Given the description of an element on the screen output the (x, y) to click on. 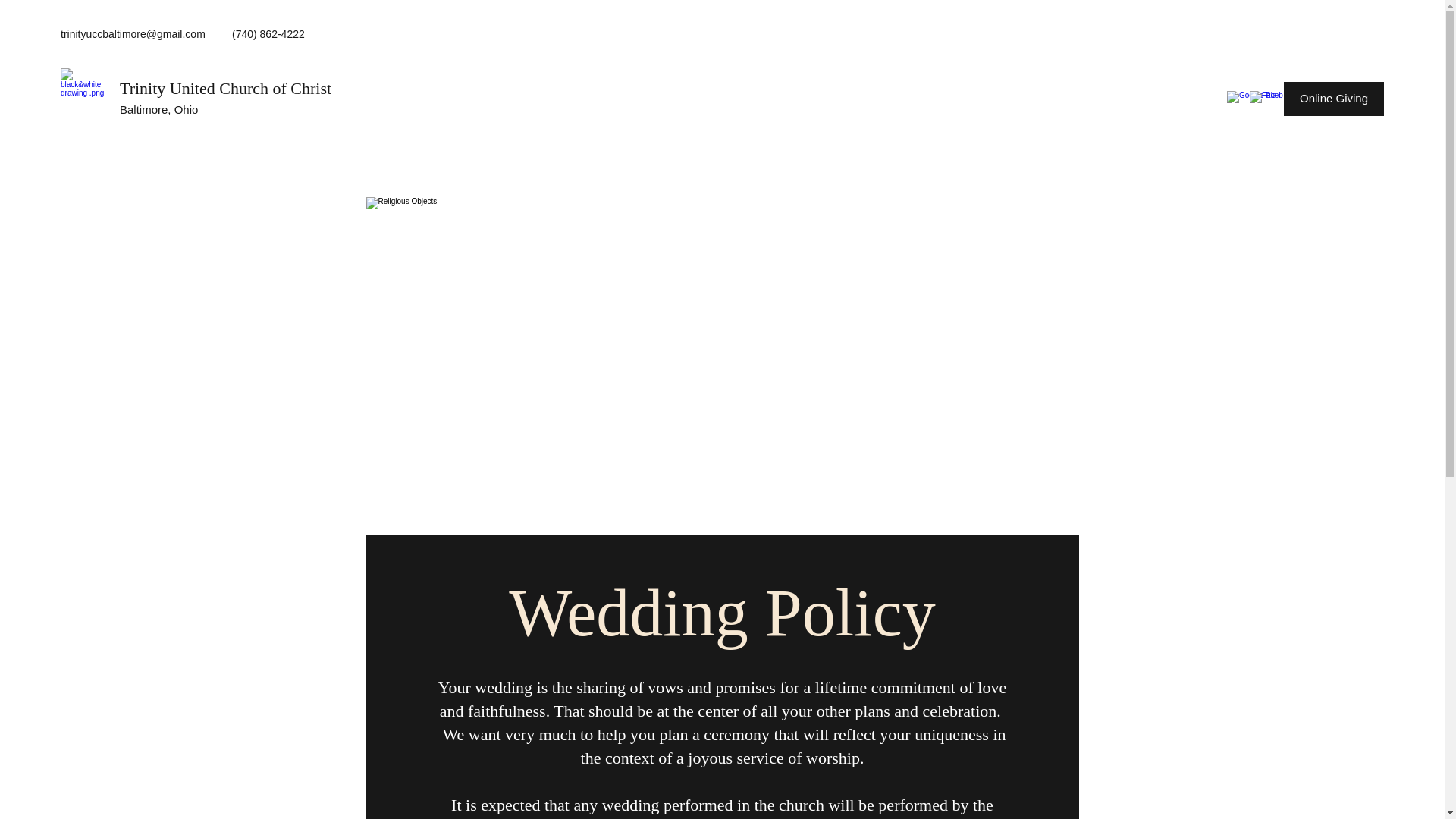
Online Giving (1334, 98)
Trinity United Church of Christ (225, 87)
